Given the description of an element on the screen output the (x, y) to click on. 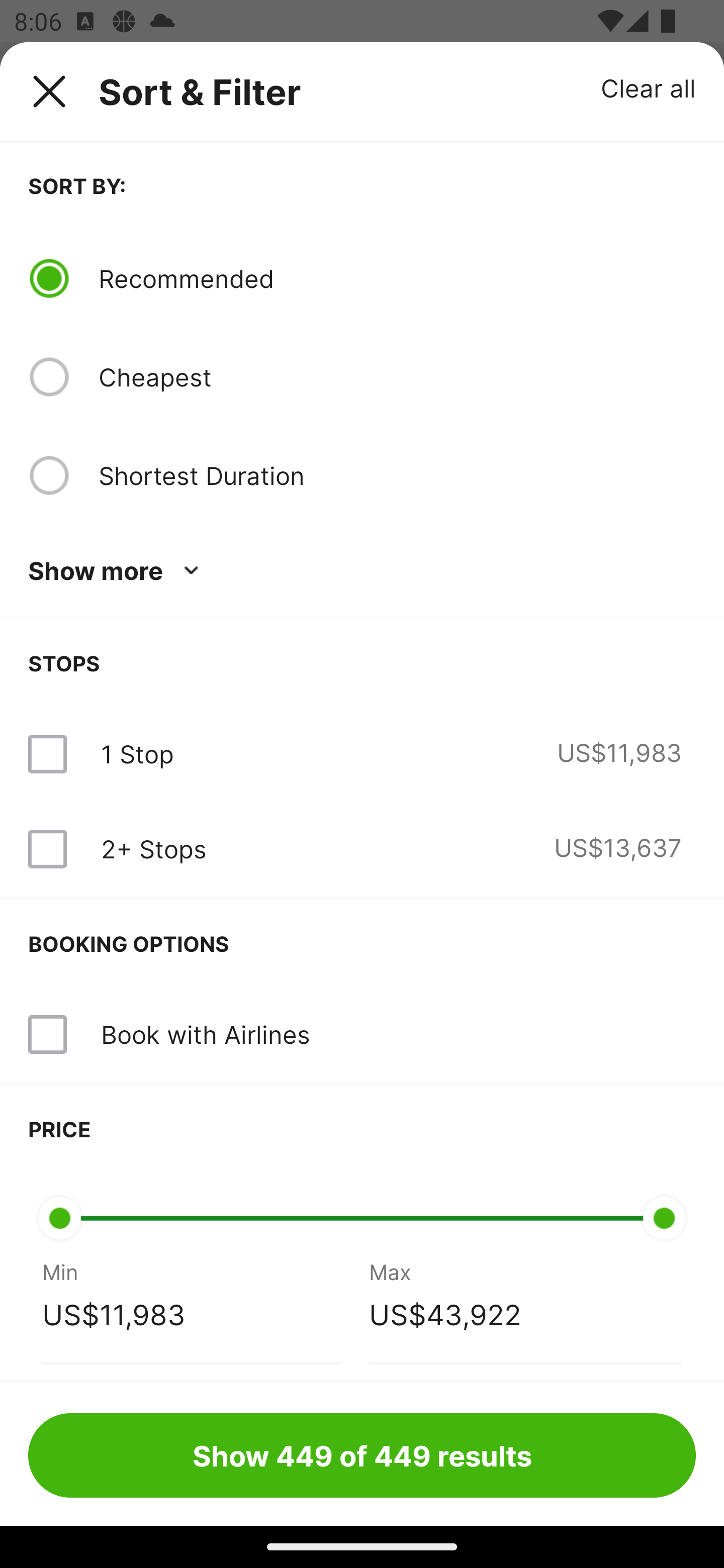
Clear all (648, 87)
Recommended  (396, 278)
Cheapest (396, 377)
Shortest Duration (396, 474)
Show more (116, 570)
1 Stop US$11,983 (362, 754)
1 Stop (136, 753)
2+ Stops US$13,637 (362, 848)
2+ Stops (153, 849)
Book with Airlines (362, 1033)
Book with Airlines (204, 1034)
Show 449 of 449 results (361, 1454)
